Given the description of an element on the screen output the (x, y) to click on. 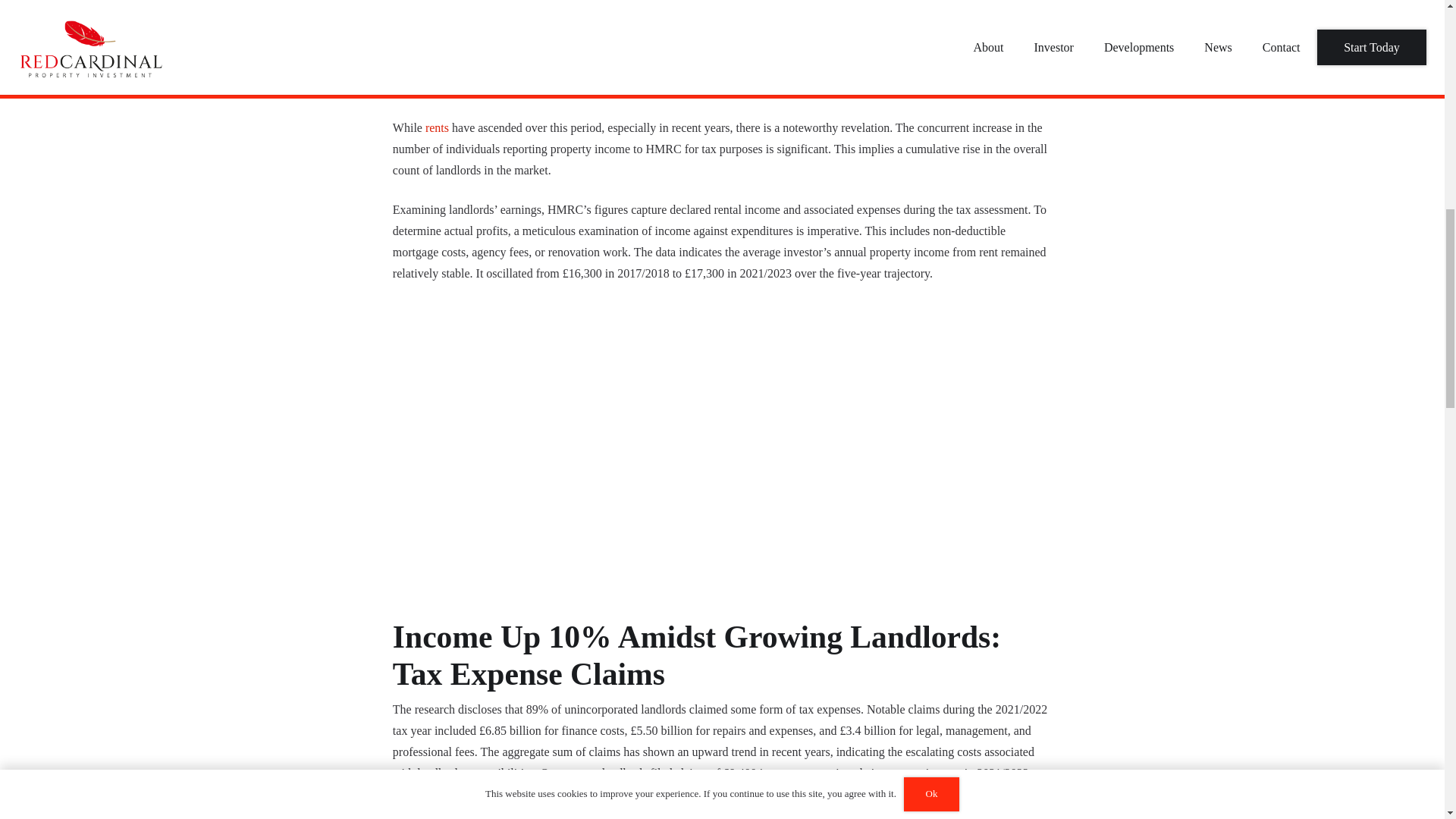
Back to top (30, 26)
